Given the description of an element on the screen output the (x, y) to click on. 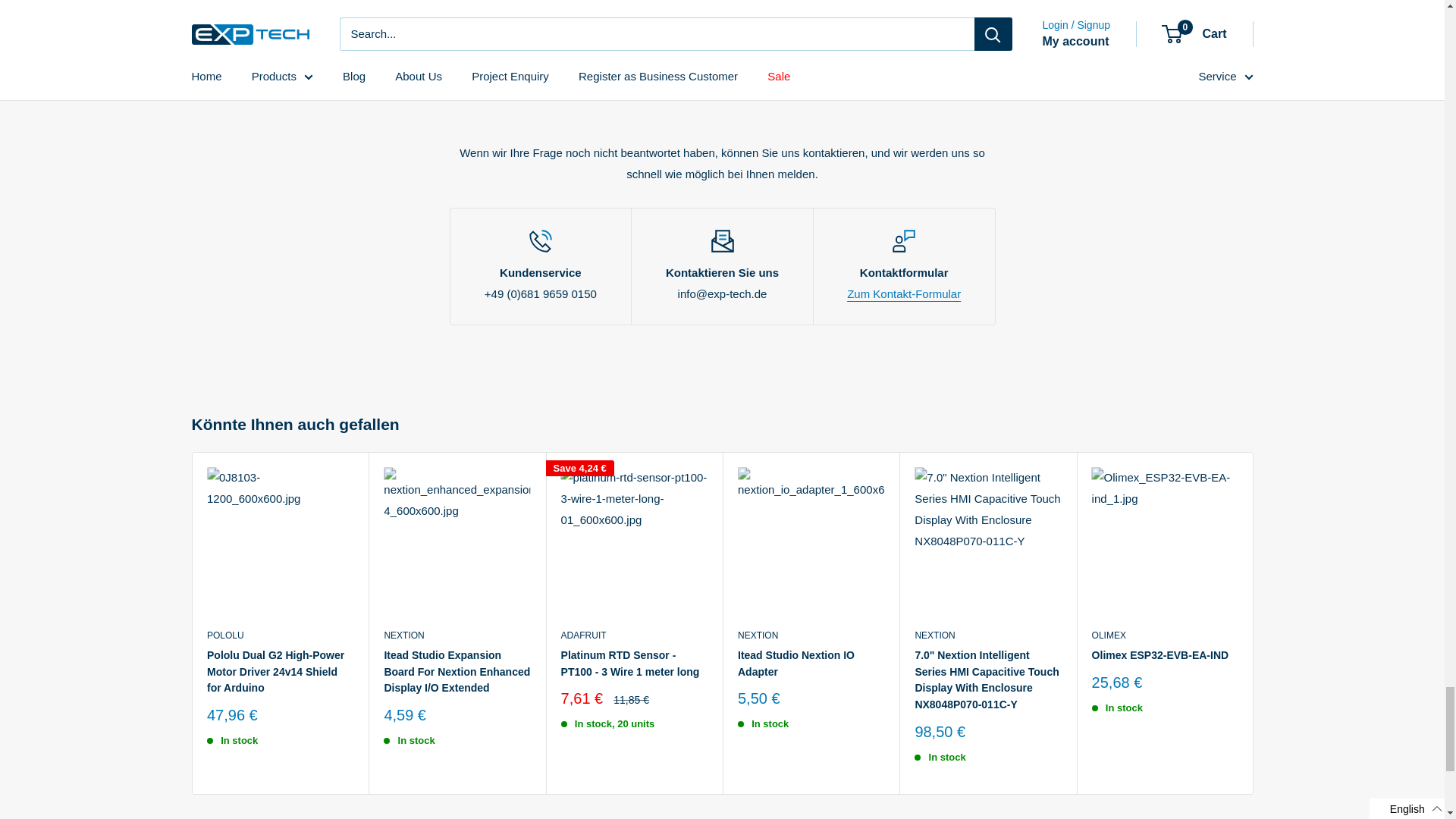
Kontakt (903, 293)
